Given the description of an element on the screen output the (x, y) to click on. 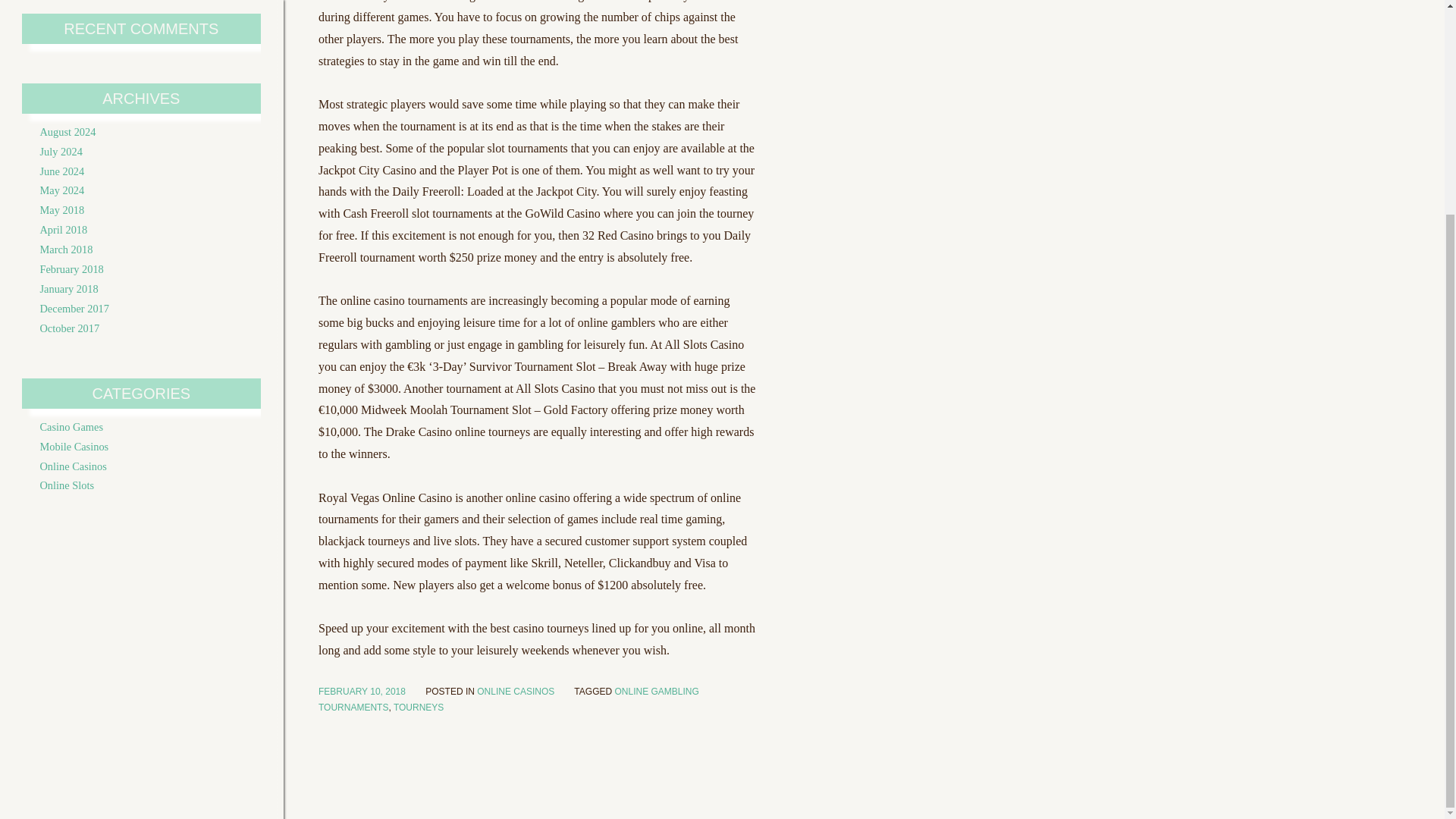
July 2024 (60, 151)
ONLINE CASINOS (515, 691)
Casino Games (71, 426)
August 2024 (67, 132)
October 2017 (69, 328)
June 2024 (61, 171)
March 2018 (66, 249)
January 2018 (68, 288)
May 2024 (61, 190)
February 2018 (71, 268)
